Given the description of an element on the screen output the (x, y) to click on. 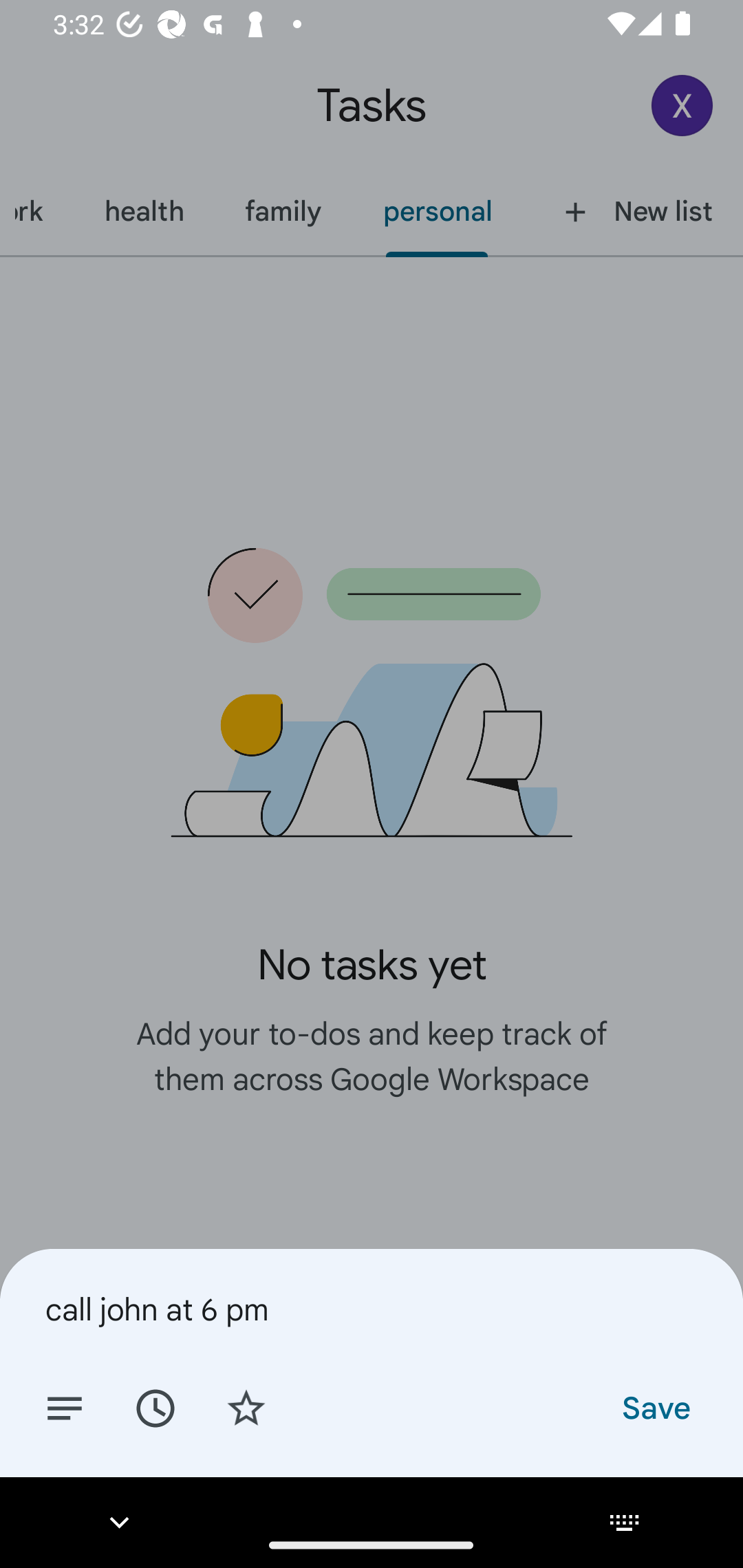
call john at 6 pm (371, 1308)
Save (655, 1407)
Add details (64, 1407)
Set date/time (154, 1407)
Add star (245, 1407)
